Given the description of an element on the screen output the (x, y) to click on. 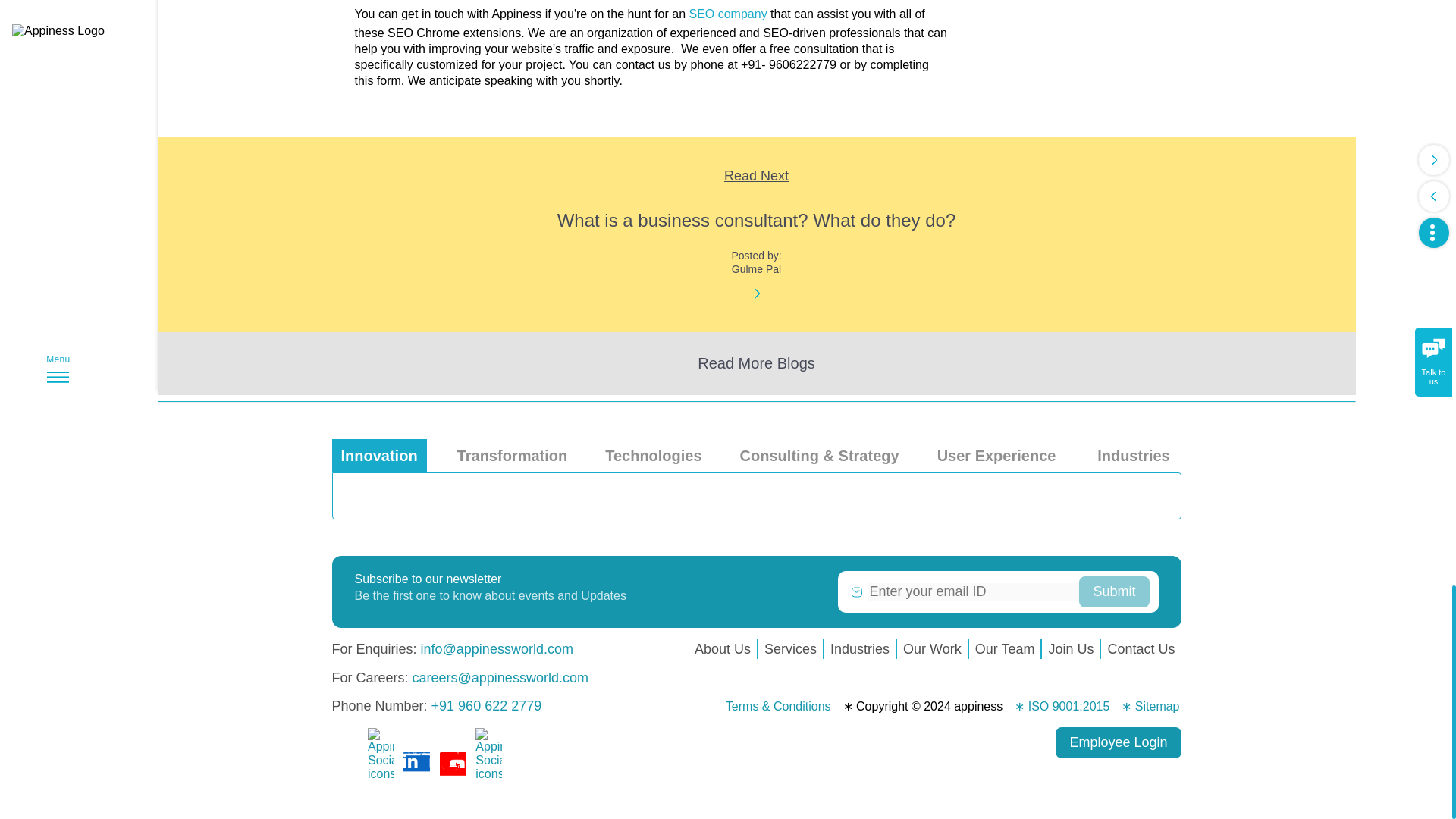
Join Us (1070, 649)
Submit (1113, 591)
Our Work (932, 649)
SEO company (727, 14)
Services (790, 649)
Contact Us (1140, 649)
Appiness Social icons (344, 764)
Our Team (1005, 649)
About Us (722, 649)
Appiness Social icons (452, 764)
Appiness Social icons (416, 764)
Industries (859, 649)
